Given the description of an element on the screen output the (x, y) to click on. 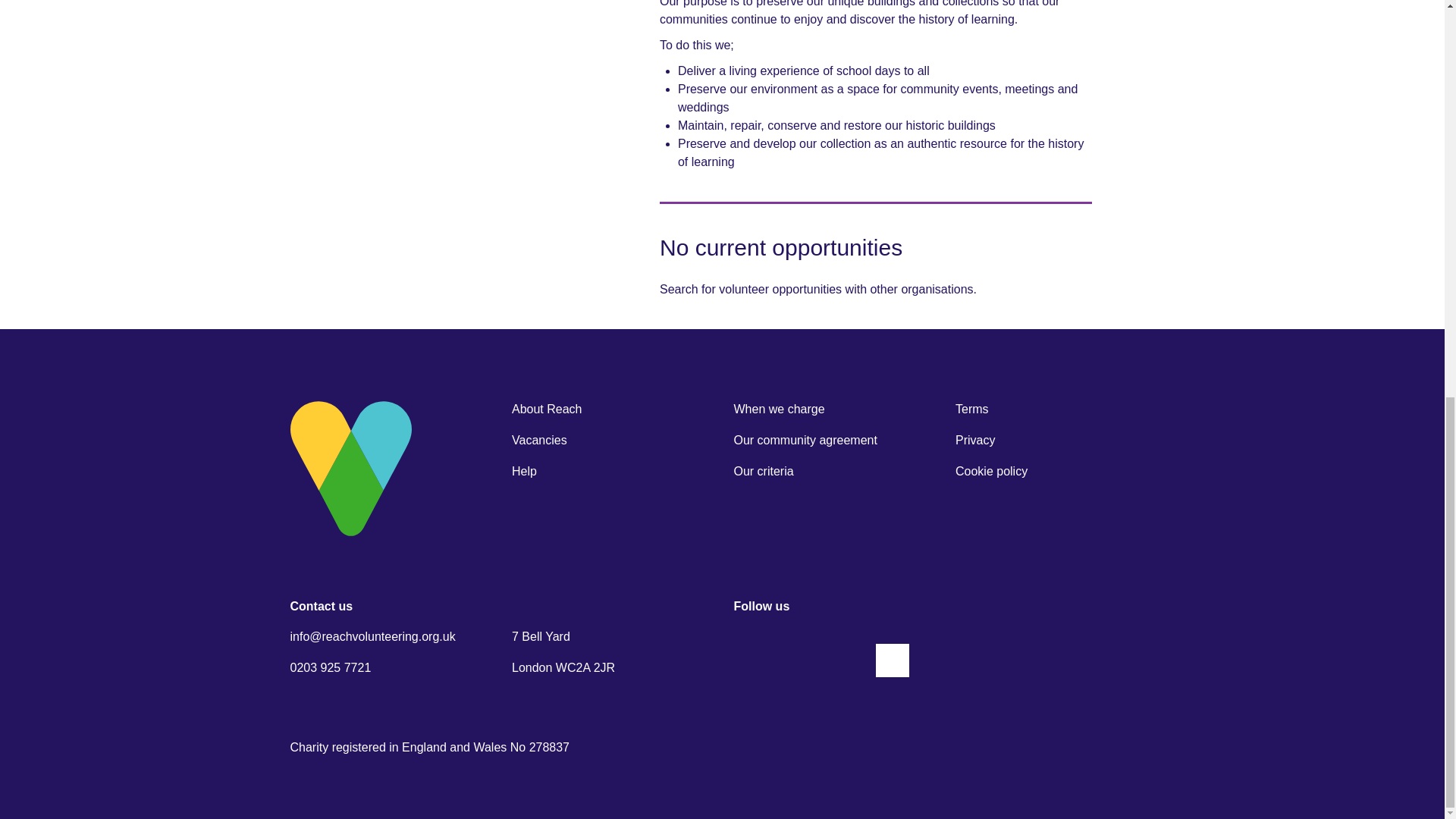
Twitter (844, 660)
Facebook (750, 660)
Instagram (892, 660)
Linkedin (796, 660)
Help (524, 471)
volunteer opportunities (780, 288)
Cookie policy (991, 471)
Our community agreement (805, 440)
Our criteria (763, 471)
Privacy (974, 440)
